Given the description of an element on the screen output the (x, y) to click on. 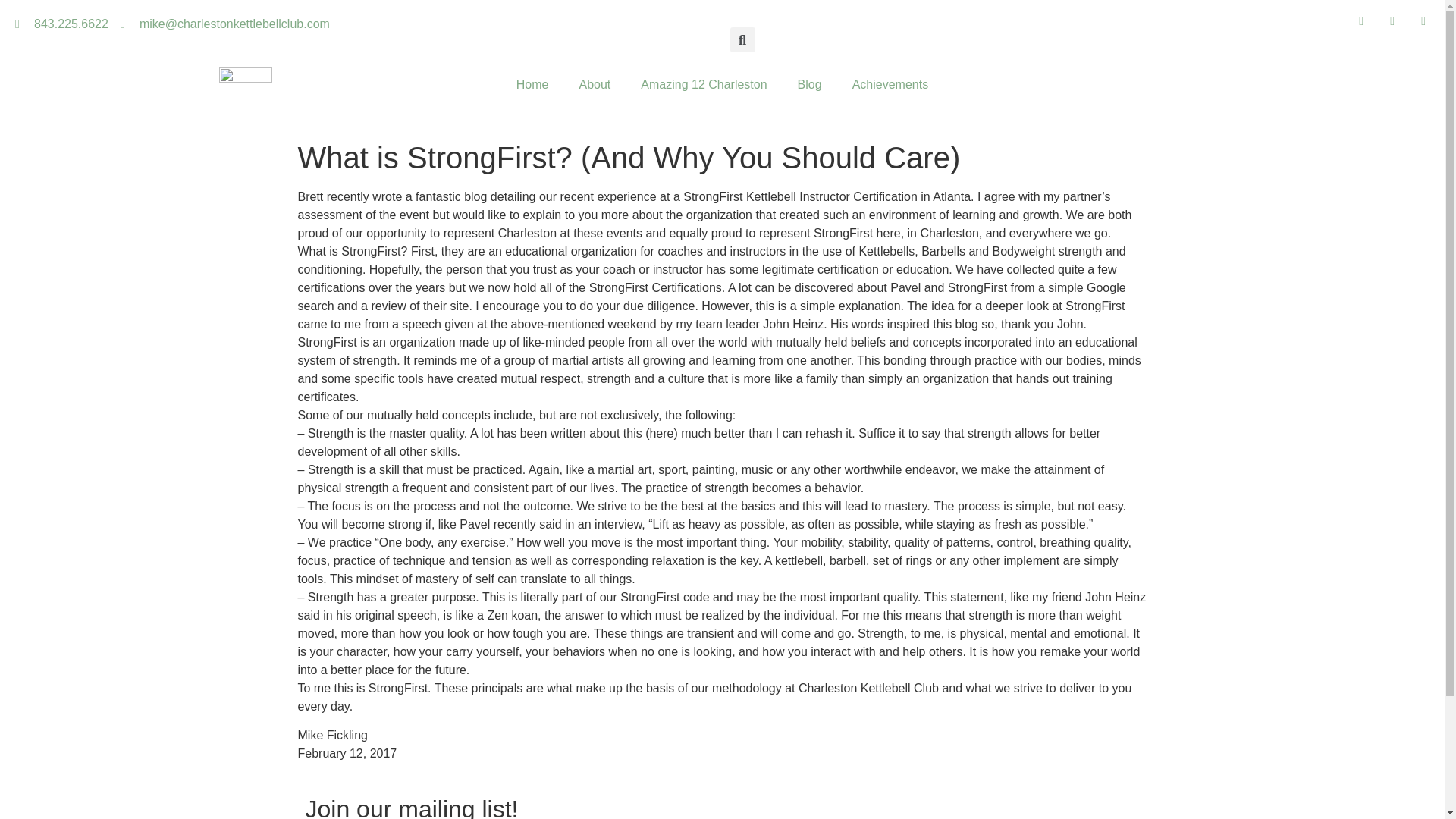
Blog (810, 84)
Amazing 12 Charleston (703, 84)
Home (532, 84)
Achievements (890, 84)
About (594, 84)
843.225.6622 (60, 24)
